Given the description of an element on the screen output the (x, y) to click on. 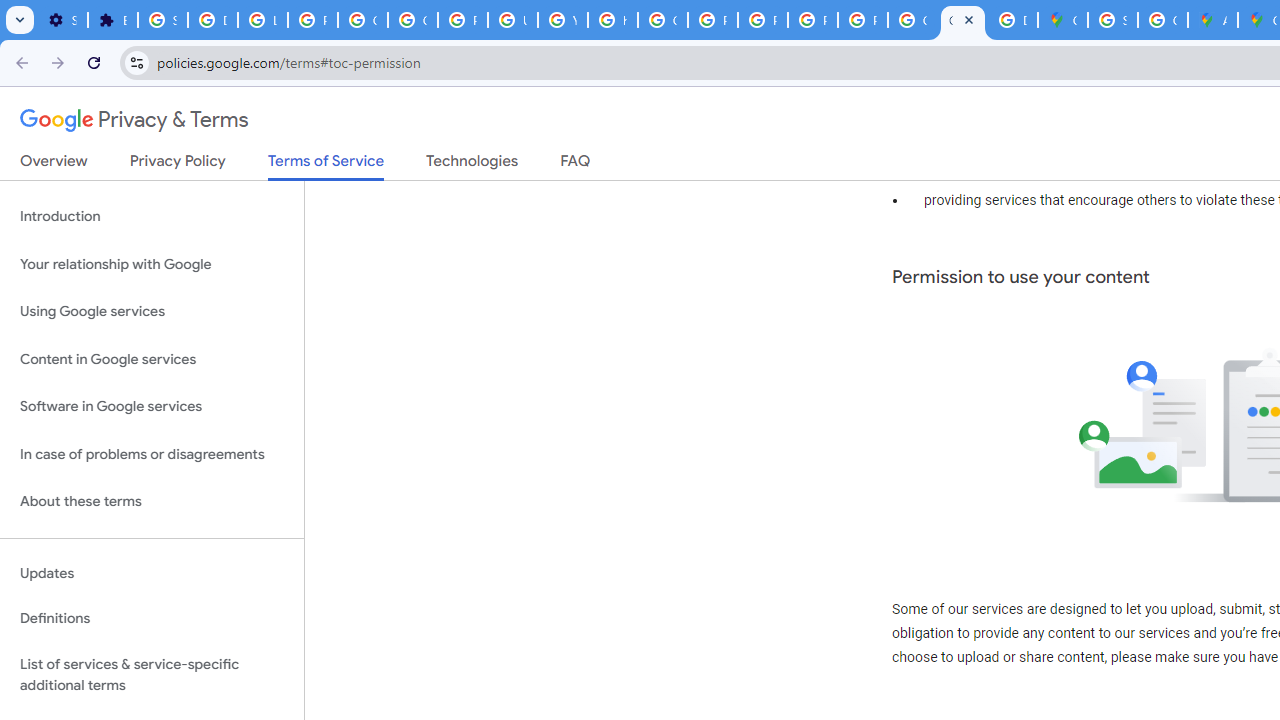
View site information (136, 62)
System (10, 11)
Privacy Help Center - Policies Help (712, 20)
Updates (152, 573)
YouTube (562, 20)
FAQ (575, 165)
Software in Google services (152, 407)
Search tabs (20, 20)
https://scholar.google.com/ (612, 20)
System (10, 11)
Google Account Help (412, 20)
Terms of Service (326, 166)
